Given the description of an element on the screen output the (x, y) to click on. 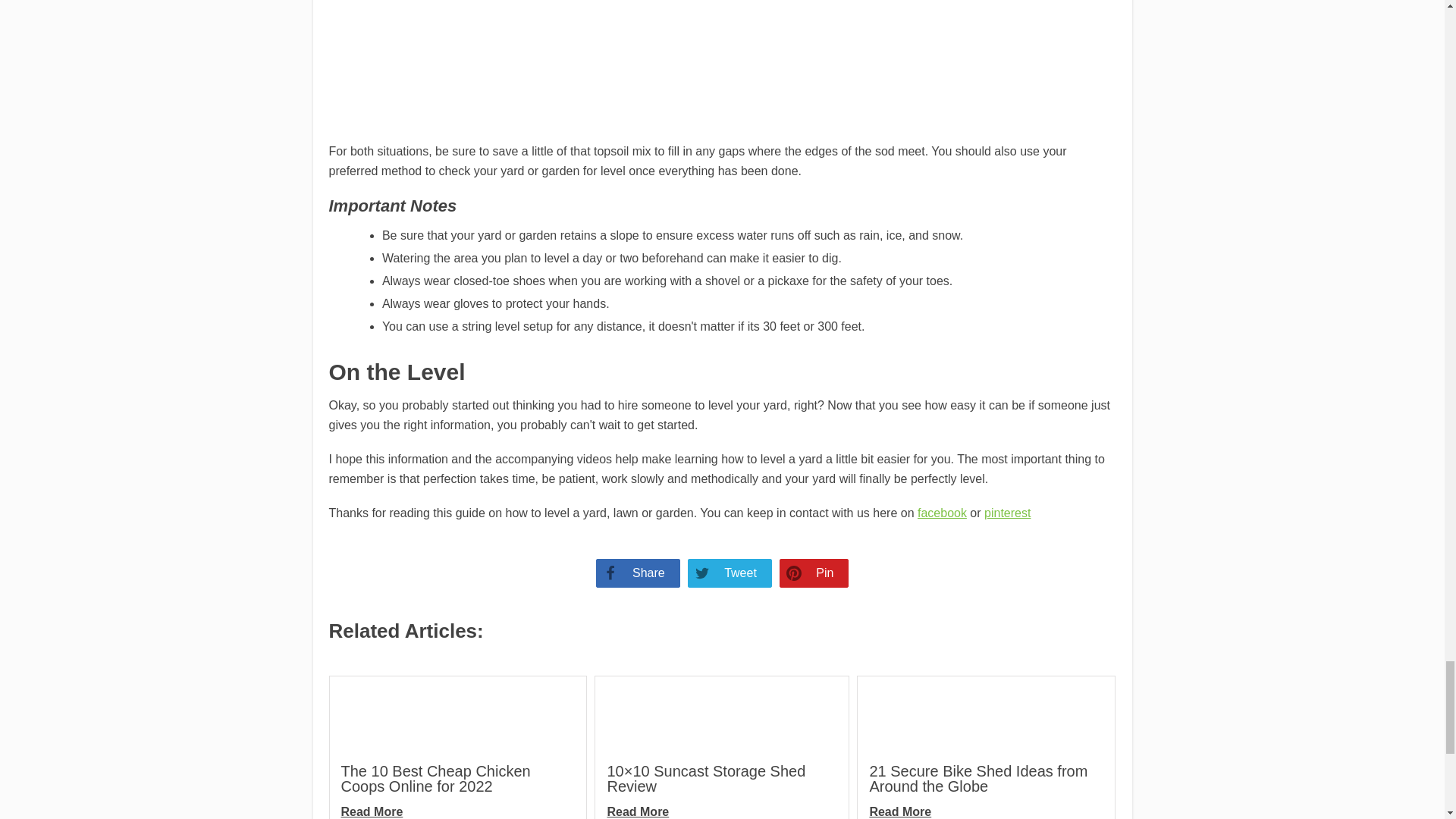
Pin (813, 573)
Share (637, 573)
Tweet (729, 573)
Read More (371, 811)
pinterest (1007, 512)
facebook (941, 512)
The 10 Best Cheap Chicken Coops Online for 2022 (435, 778)
